Given the description of an element on the screen output the (x, y) to click on. 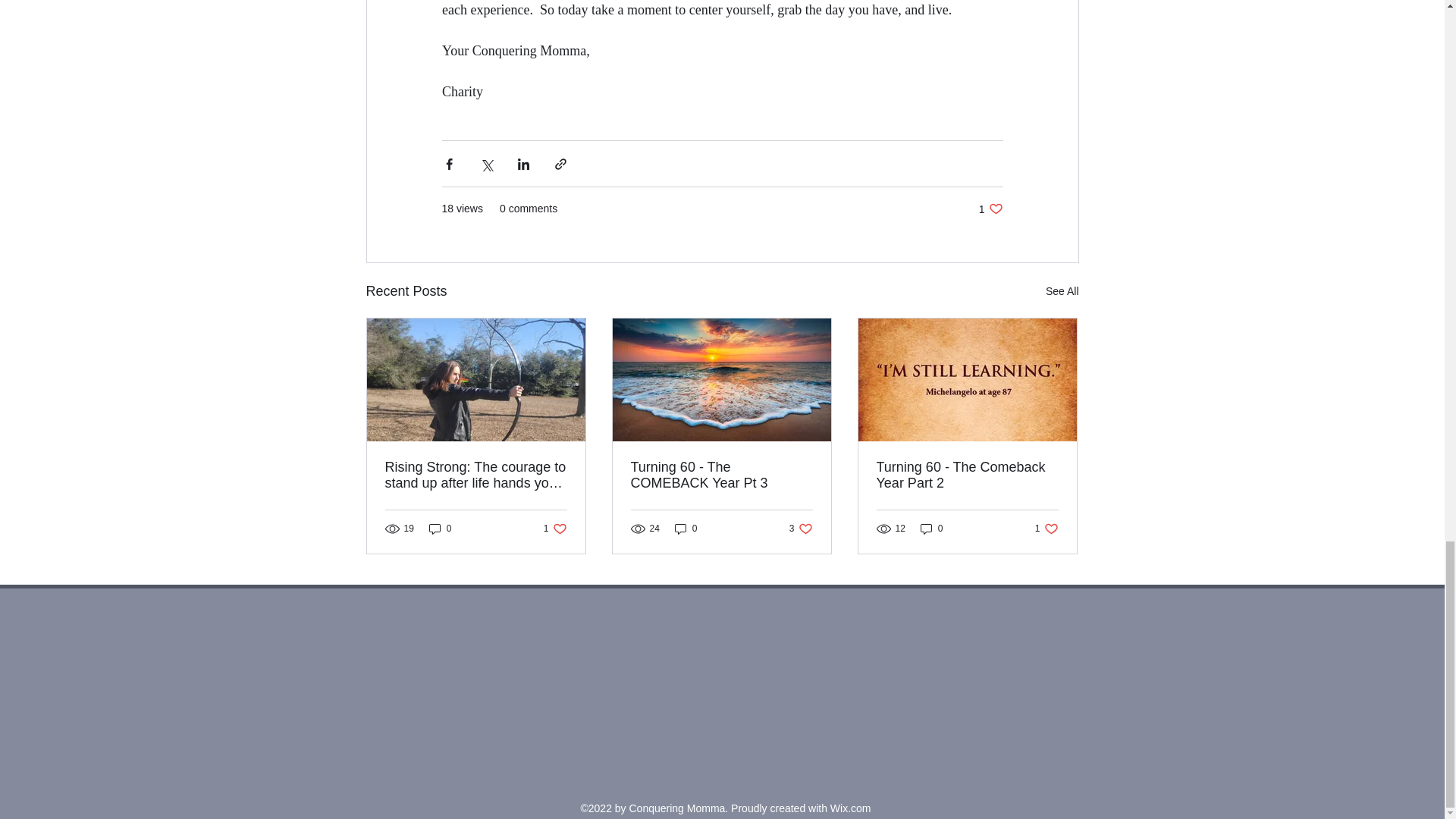
See All (1061, 291)
0 (440, 527)
Turning 60 - The Comeback Year Part 2 (1046, 527)
Turning 60 - The COMEBACK Year Pt 3 (967, 475)
0 (721, 475)
